Given the description of an element on the screen output the (x, y) to click on. 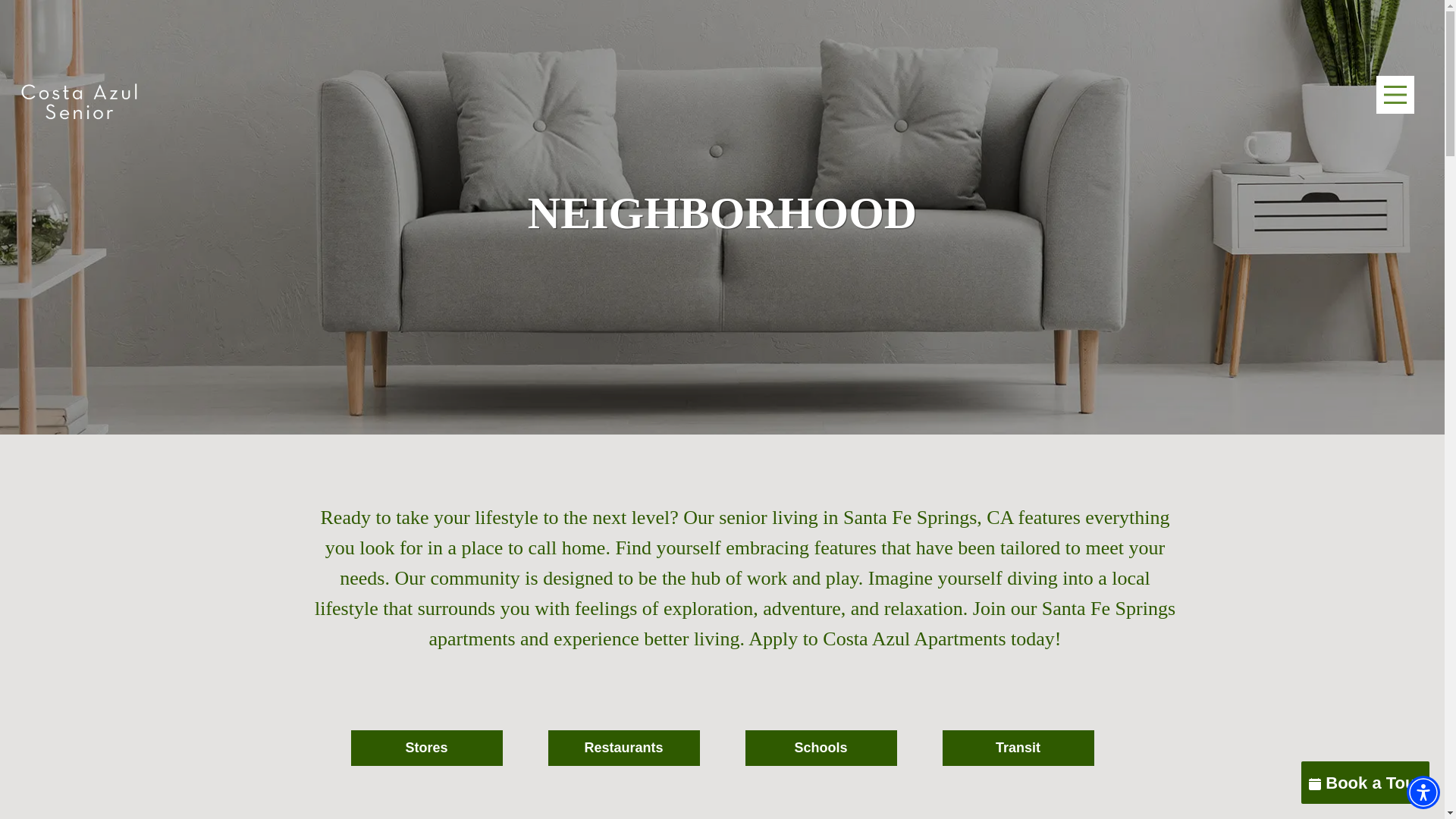
Stores (426, 747)
Schools (820, 747)
Accessibility Menu (1422, 792)
Restaurants (622, 747)
Transit (1017, 747)
Book a Tour (1365, 782)
